Given the description of an element on the screen output the (x, y) to click on. 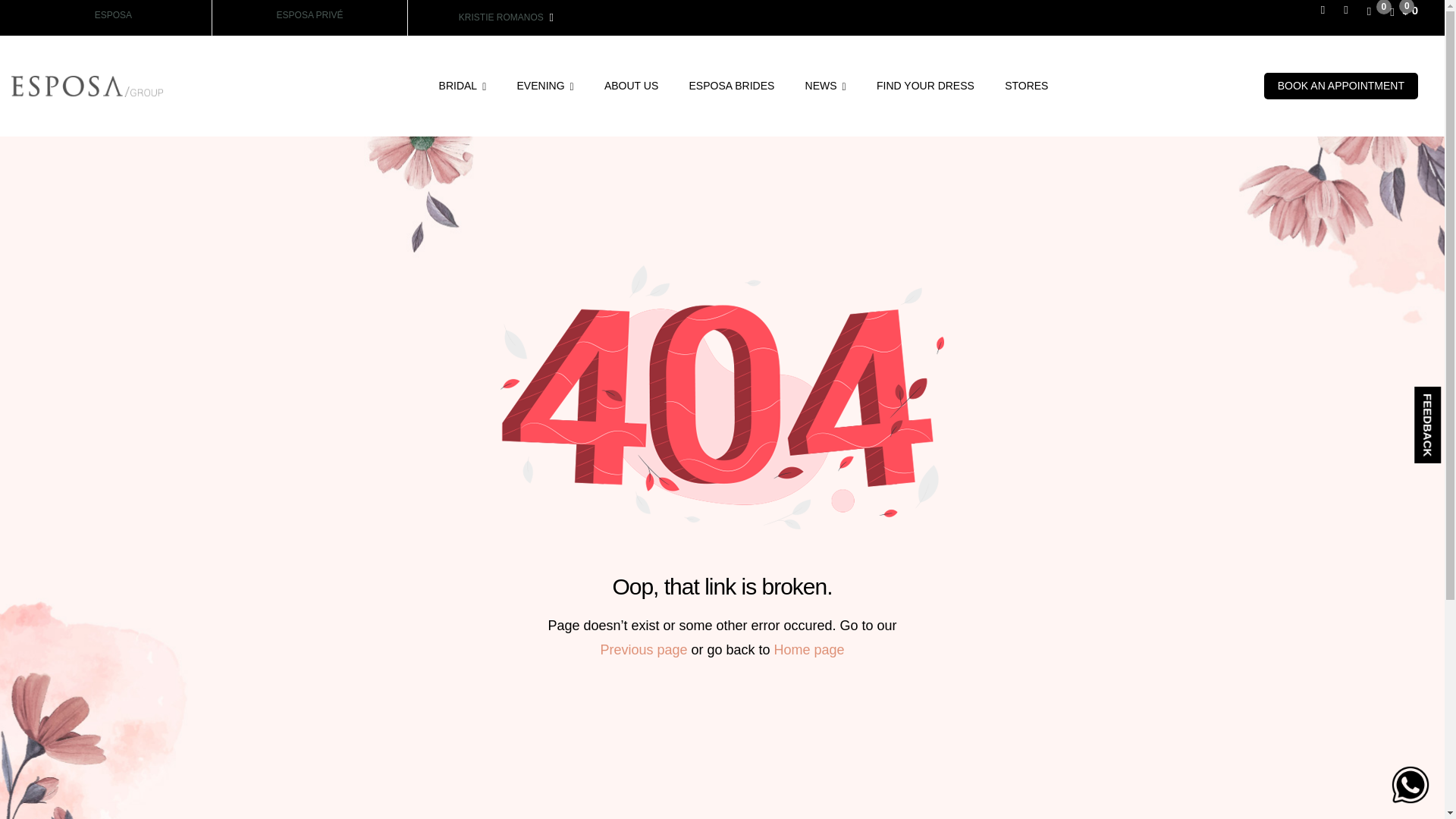
BRIDAL (462, 86)
View your shopping cart (1404, 10)
KRISTIE ROMANOS (505, 17)
ESPOSA (113, 14)
